Given the description of an element on the screen output the (x, y) to click on. 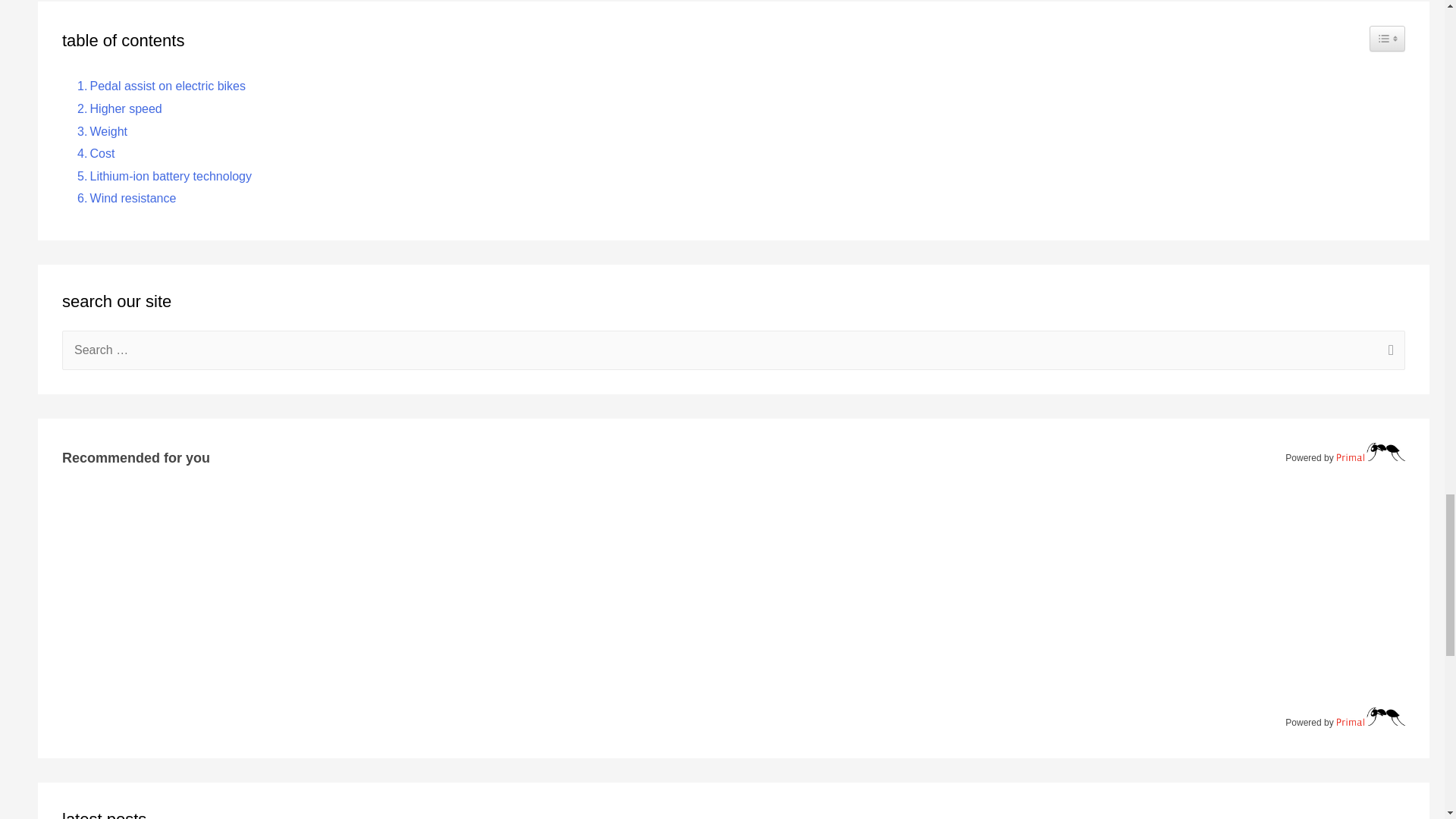
Higher speed (115, 108)
Pedal assist on electric bikes (157, 86)
Pedal assist on electric bikes (157, 86)
Cost (92, 153)
Lithium-ion battery technology (160, 176)
Weight (98, 131)
Wind resistance (122, 198)
toggle table of content (1387, 38)
Higher speed (115, 108)
Wind resistance (122, 198)
